Given the description of an element on the screen output the (x, y) to click on. 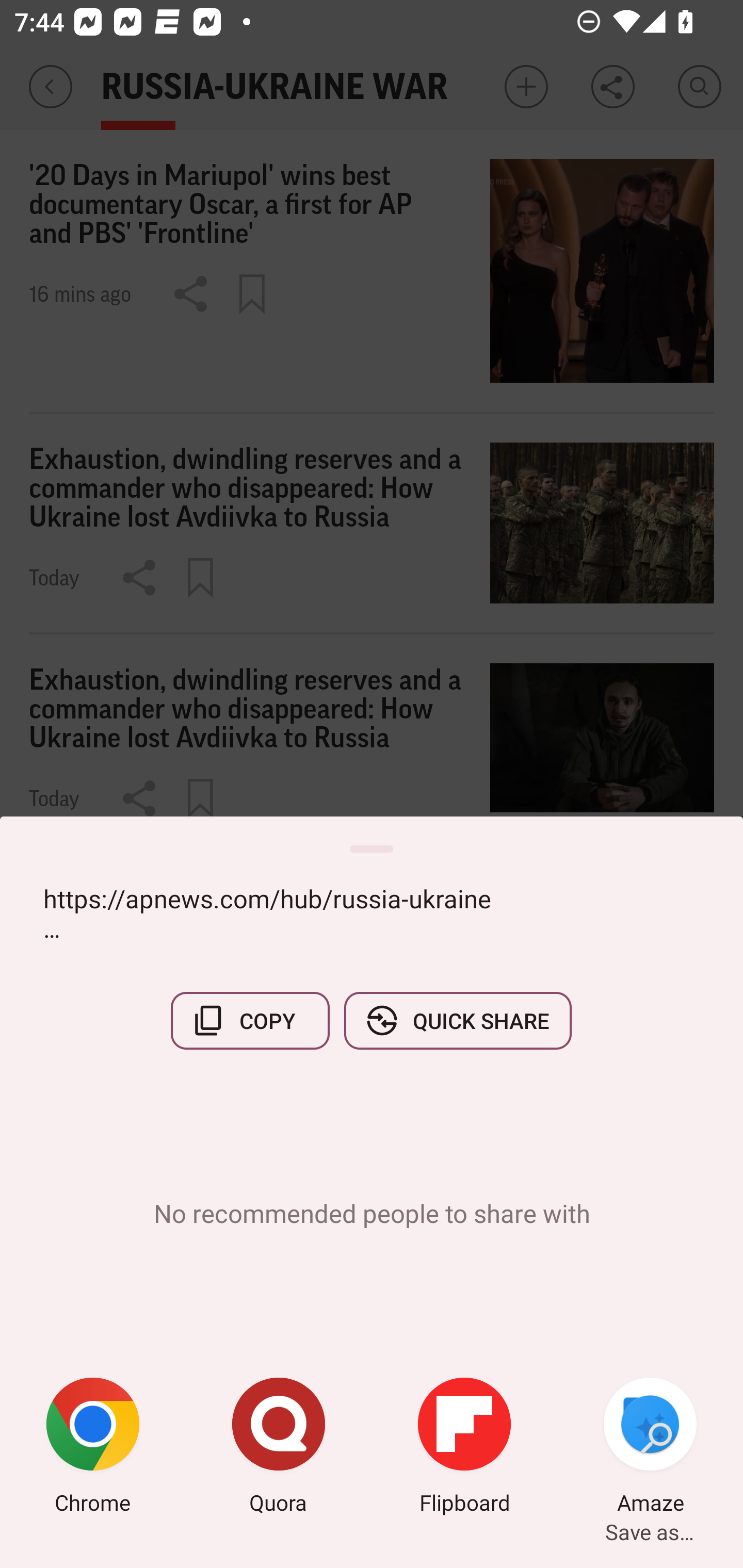
COPY (249, 1020)
QUICK SHARE (457, 1020)
Chrome (92, 1448)
Quora (278, 1448)
Flipboard (464, 1448)
Amaze Save as… (650, 1448)
